Given the description of an element on the screen output the (x, y) to click on. 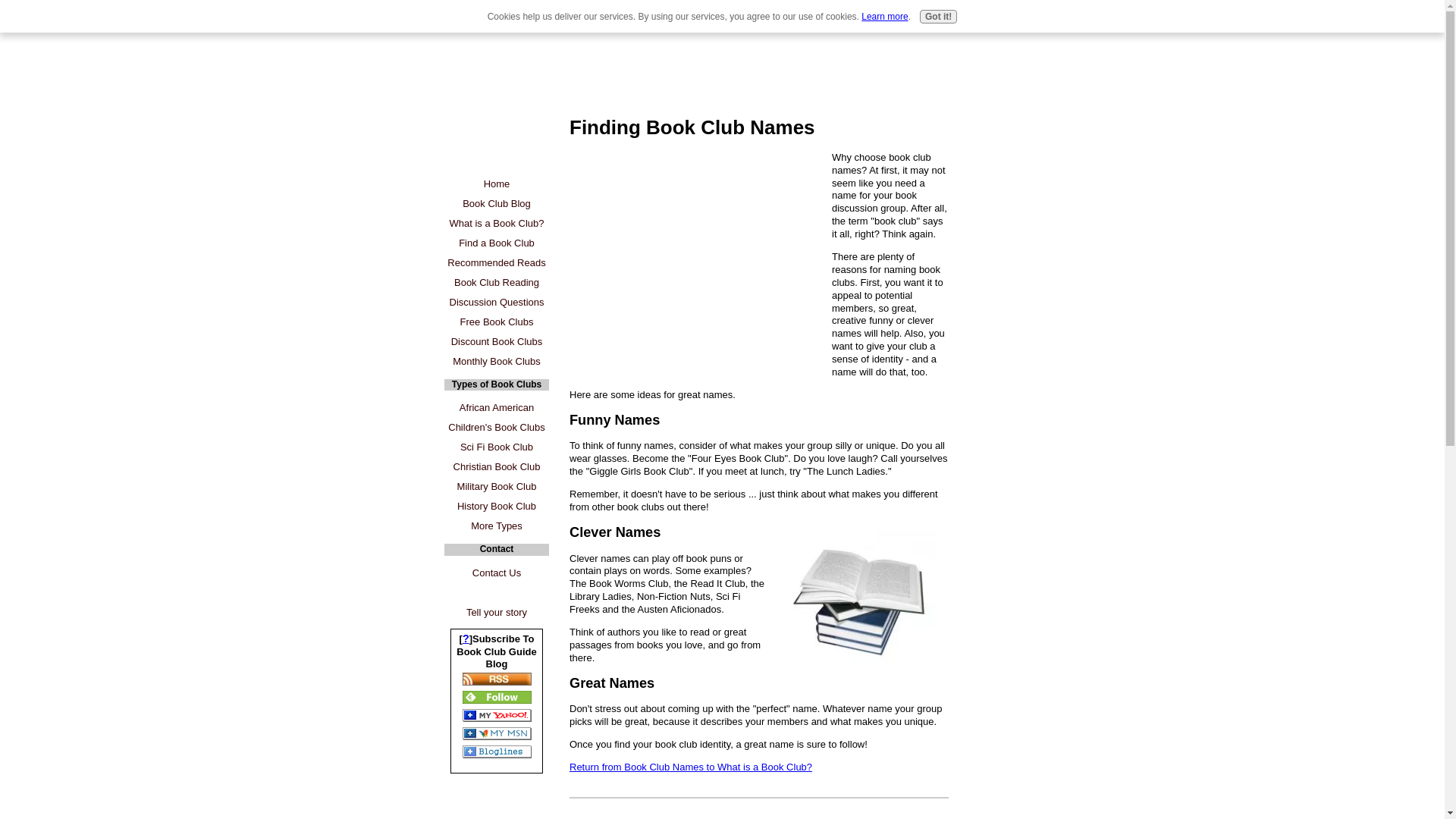
Home (496, 184)
Discount Book Clubs (496, 342)
Tell your story (496, 612)
Contact Us (496, 573)
Discussion Questions (496, 302)
Book Club Reading List (496, 282)
Christian Book Club (496, 466)
Got it! (938, 16)
Return from Book Club Names to What is a Book Club? (690, 767)
More Types (496, 526)
Military Book Club (496, 486)
Learn more (884, 16)
What is a Book Club? (496, 223)
Book Club Names (863, 597)
Children's Book Clubs (496, 427)
